Given the description of an element on the screen output the (x, y) to click on. 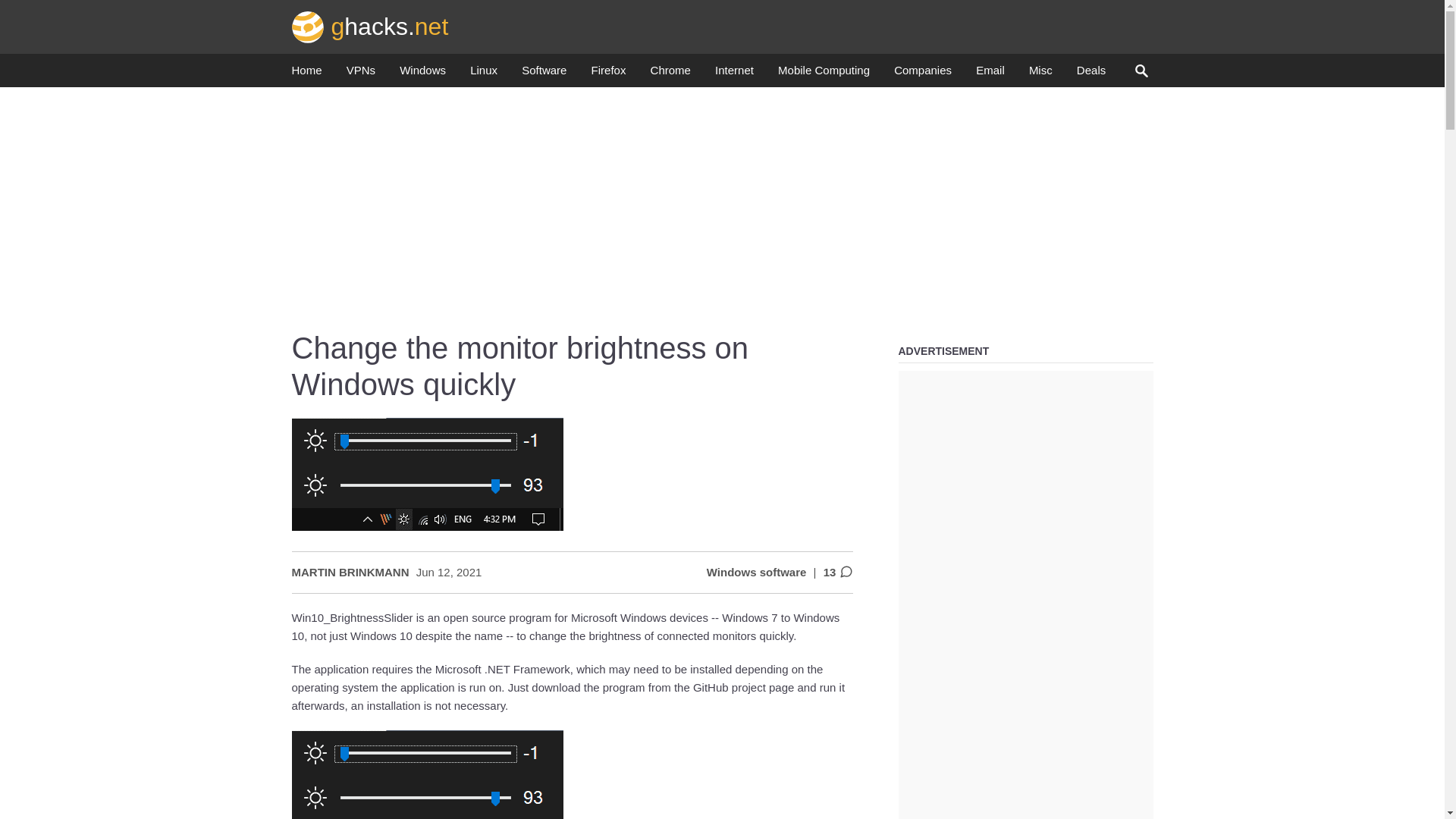
Windows (421, 73)
Companies (922, 73)
VPNs (360, 73)
Chrome (670, 73)
Misc (1040, 73)
Deals (1091, 73)
Linux (483, 73)
Home (306, 73)
Mobile Computing (823, 73)
Email (989, 73)
